Given the description of an element on the screen output the (x, y) to click on. 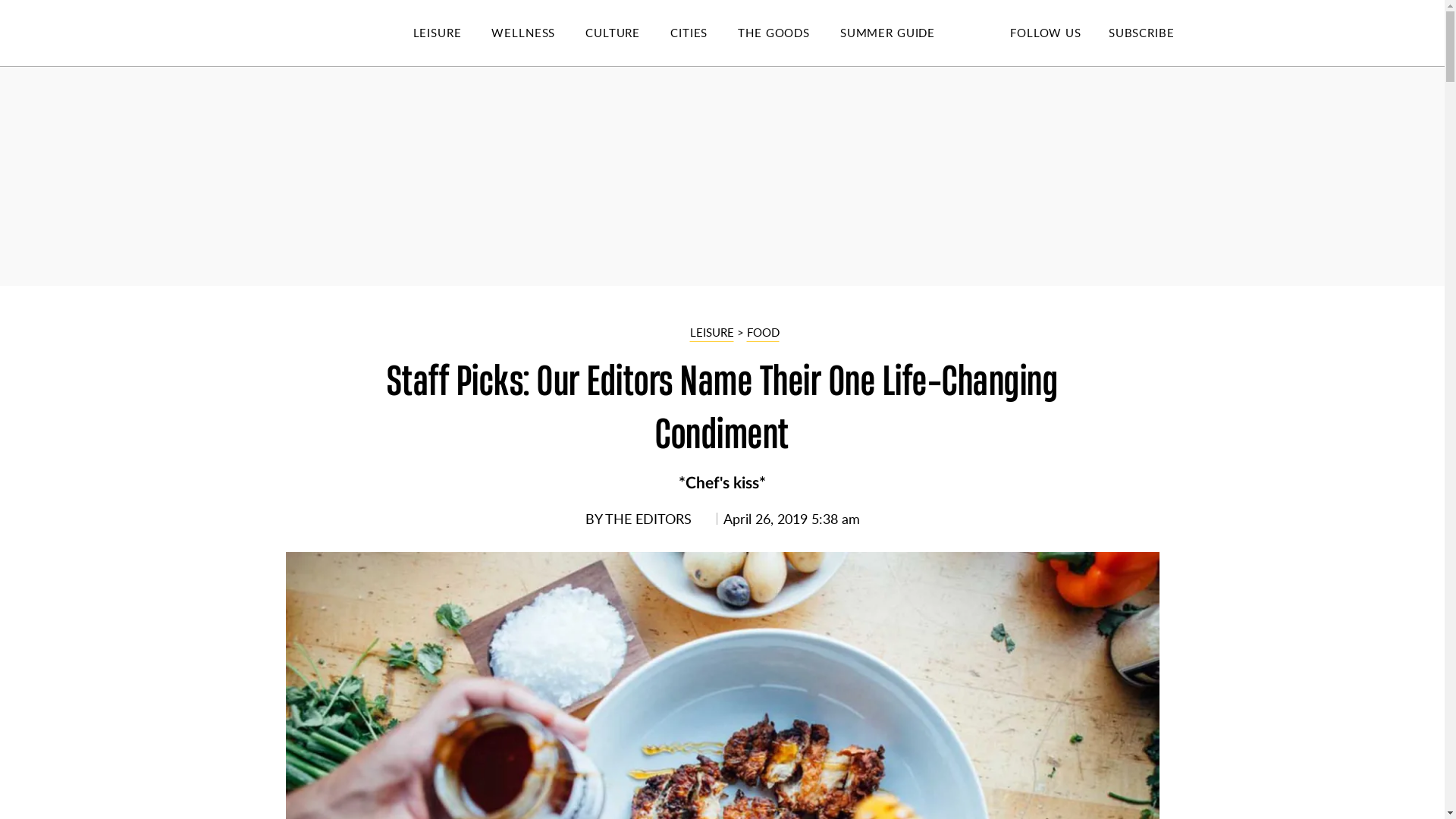
SUBSCRIBE (1141, 31)
CITIES (703, 32)
LEISURE (452, 32)
CULTURE (627, 32)
SUMMER GUIDE (902, 32)
FOLLOW US (1045, 32)
THE GOODS (789, 32)
WELLNESS (538, 32)
